Given the description of an element on the screen output the (x, y) to click on. 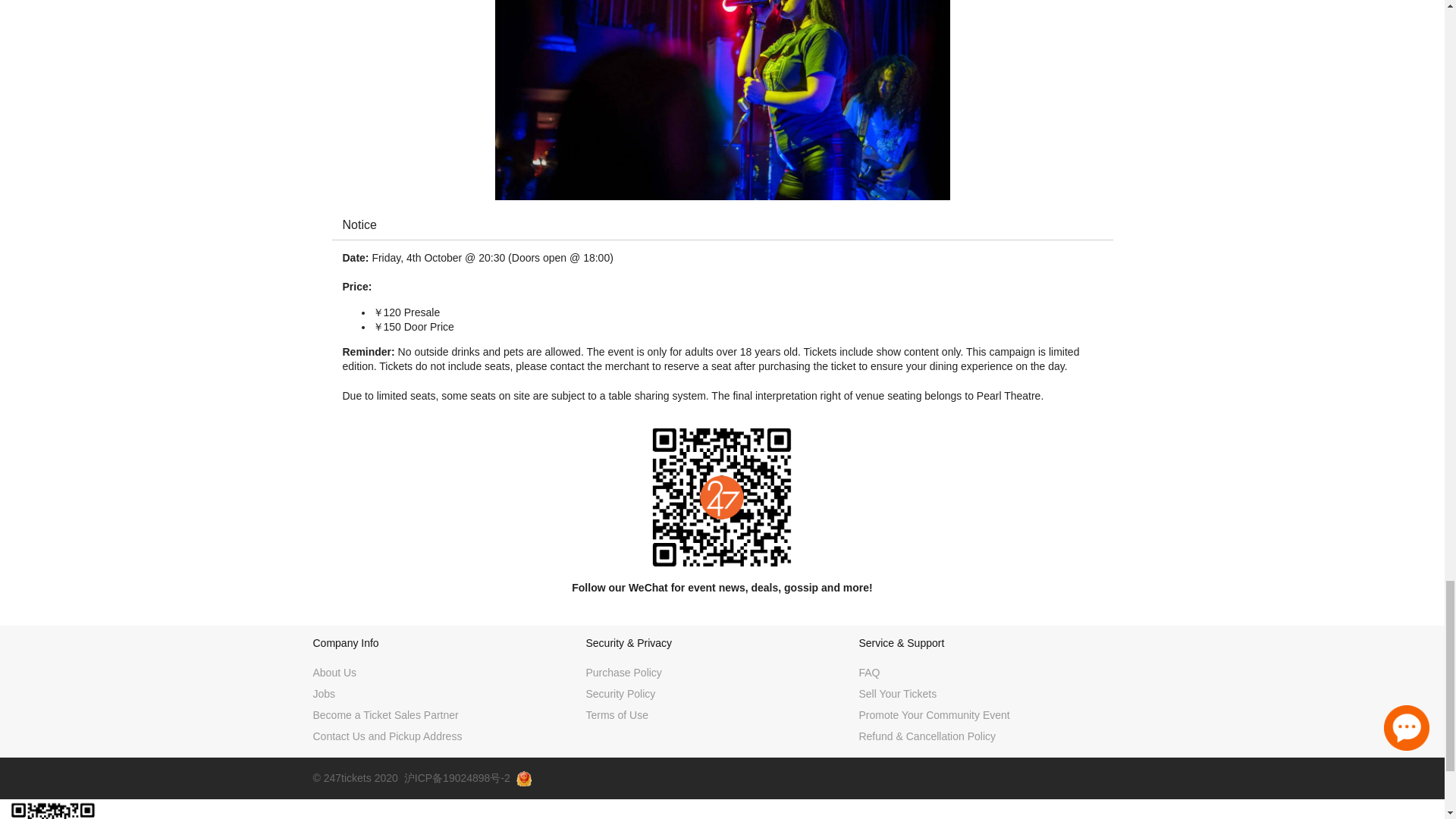
About Us (334, 672)
Contact Us and Pickup Address (387, 736)
Become a Ticket Sales Partner (385, 715)
Jobs (323, 693)
